Given the description of an element on the screen output the (x, y) to click on. 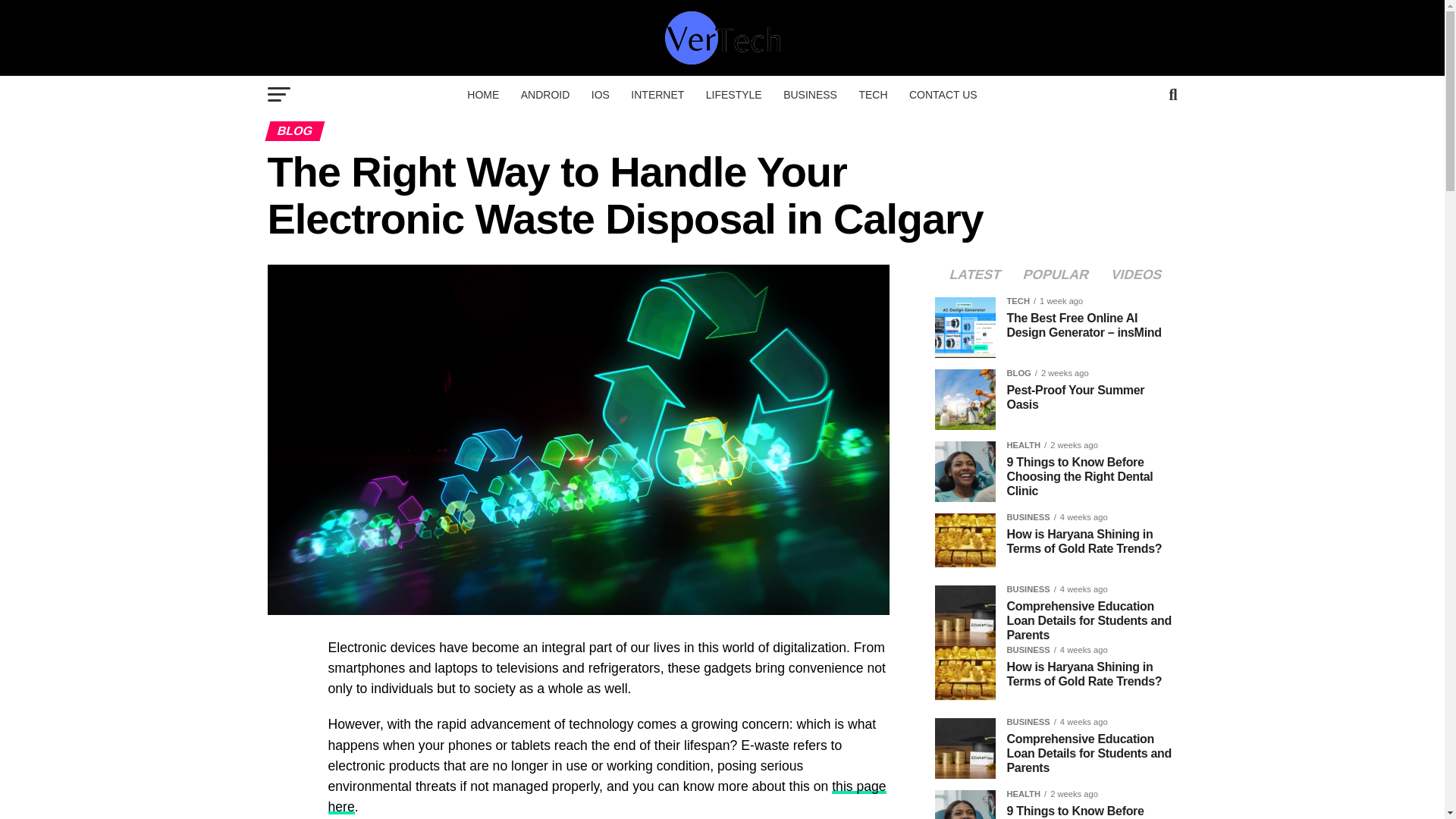
HOME (483, 94)
LIFESTYLE (734, 94)
INTERNET (657, 94)
IOS (600, 94)
BUSINESS (809, 94)
ANDROID (545, 94)
